Given the description of an element on the screen output the (x, y) to click on. 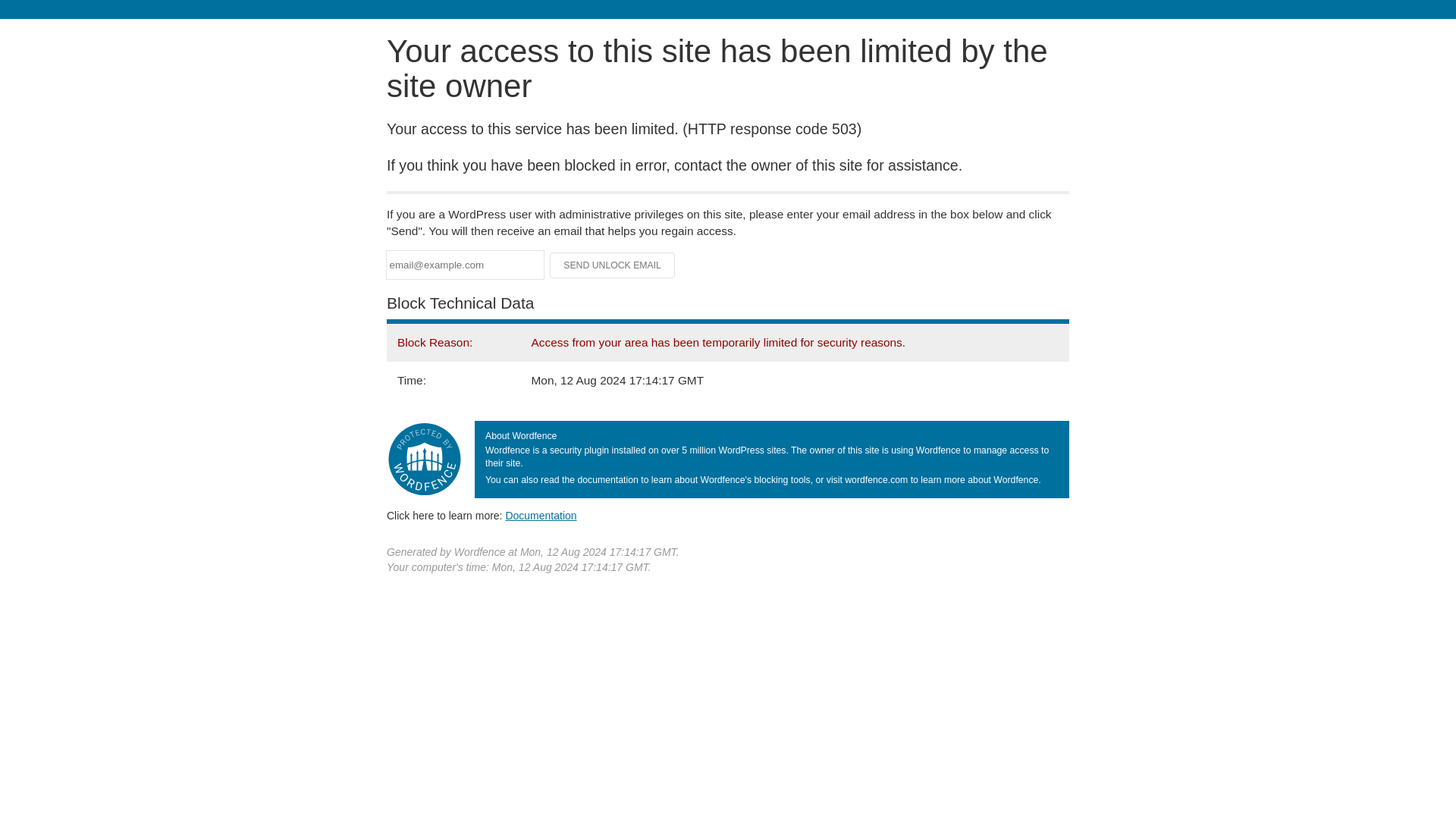
Send Unlock Email (612, 265)
Send Unlock Email (612, 265)
Documentation (540, 515)
